Given the description of an element on the screen output the (x, y) to click on. 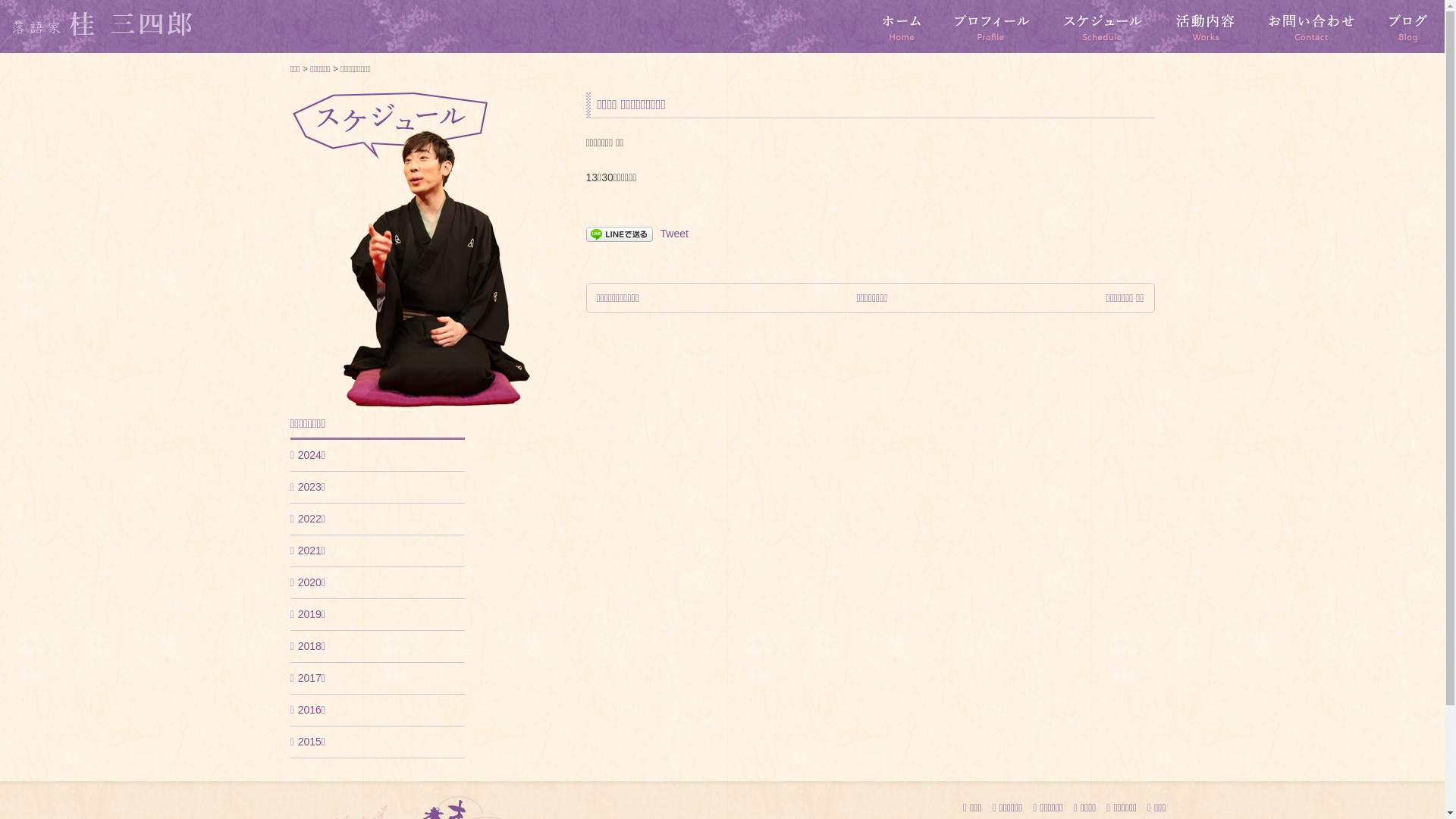
Tweet Element type: text (673, 233)
